Given the description of an element on the screen output the (x, y) to click on. 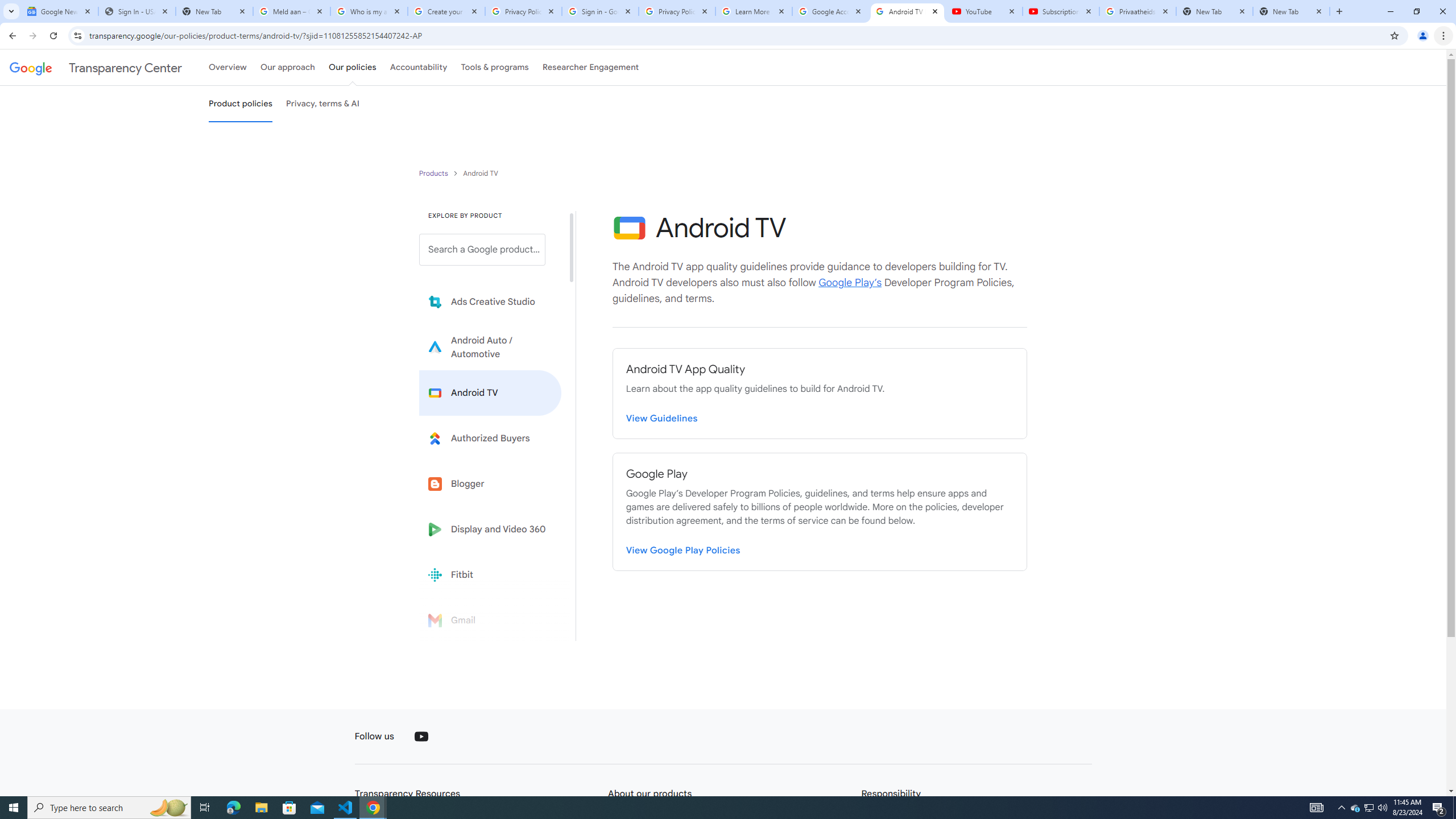
Privacy, terms & AI (322, 103)
Who is my administrator? - Google Account Help (368, 11)
Fitbit (490, 574)
Learn more about Android TV (490, 393)
YouTube (983, 11)
Tools & programs (494, 67)
Search a Google product from below list. (481, 249)
Sign In - USA TODAY (136, 11)
Display and Video 360 (490, 529)
Android TV Policies and Guidelines - Transparency Center (906, 11)
View Guidelines (661, 416)
Our policies (351, 67)
